Given the description of an element on the screen output the (x, y) to click on. 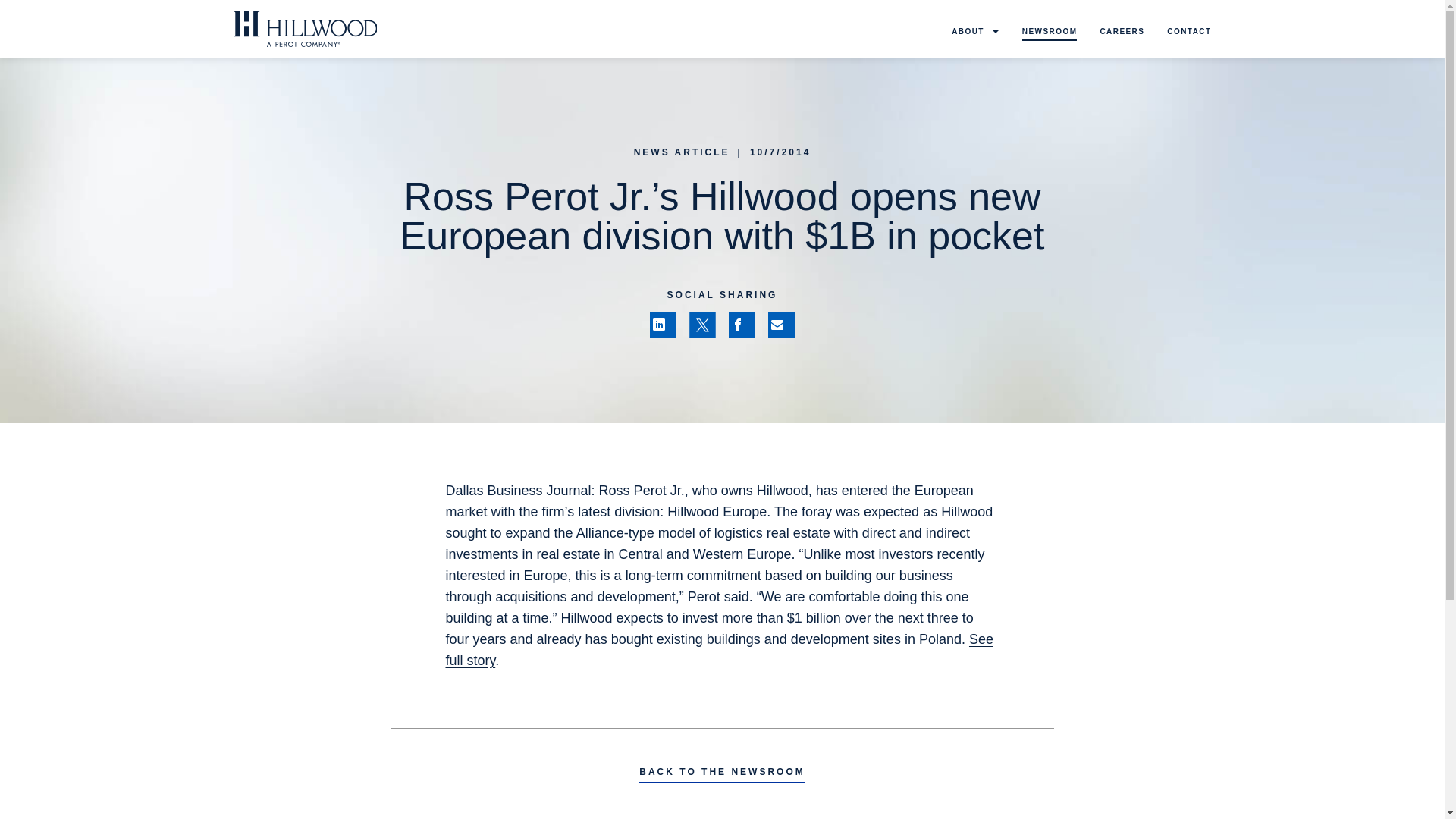
CONTACT (1189, 33)
Share (663, 325)
See full story (718, 649)
CAREERS (1121, 33)
Share (742, 325)
ABOUT (975, 33)
NEWSROOM (1049, 33)
Email (781, 325)
BACK TO THE NEWSROOM (722, 774)
